Given the description of an element on the screen output the (x, y) to click on. 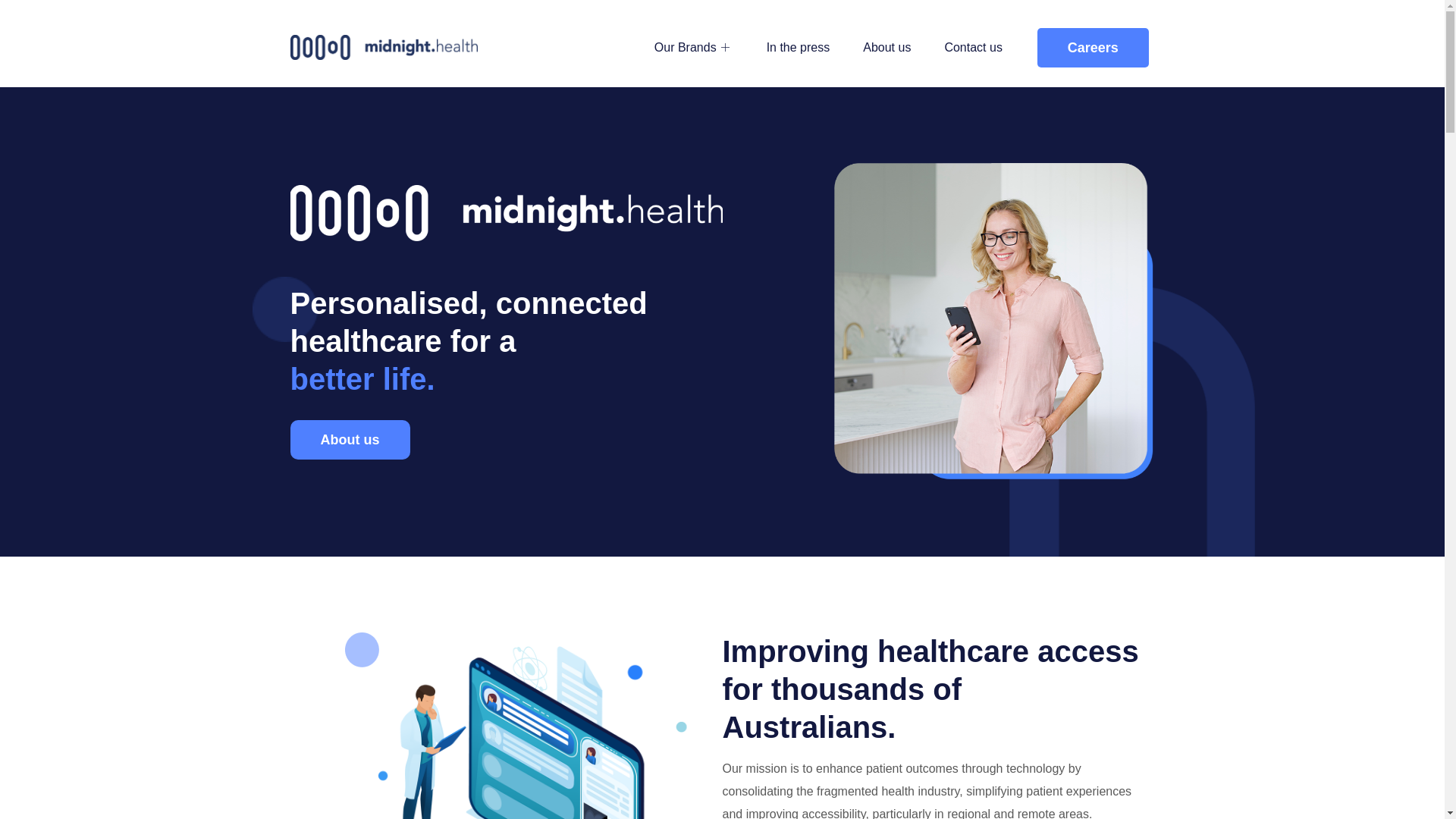
Careers Element type: text (1092, 46)
In the press Element type: text (798, 47)
Our Brands Element type: text (693, 47)
Contact us Element type: text (972, 47)
About us Element type: text (886, 47)
About us Element type: text (349, 439)
